Given the description of an element on the screen output the (x, y) to click on. 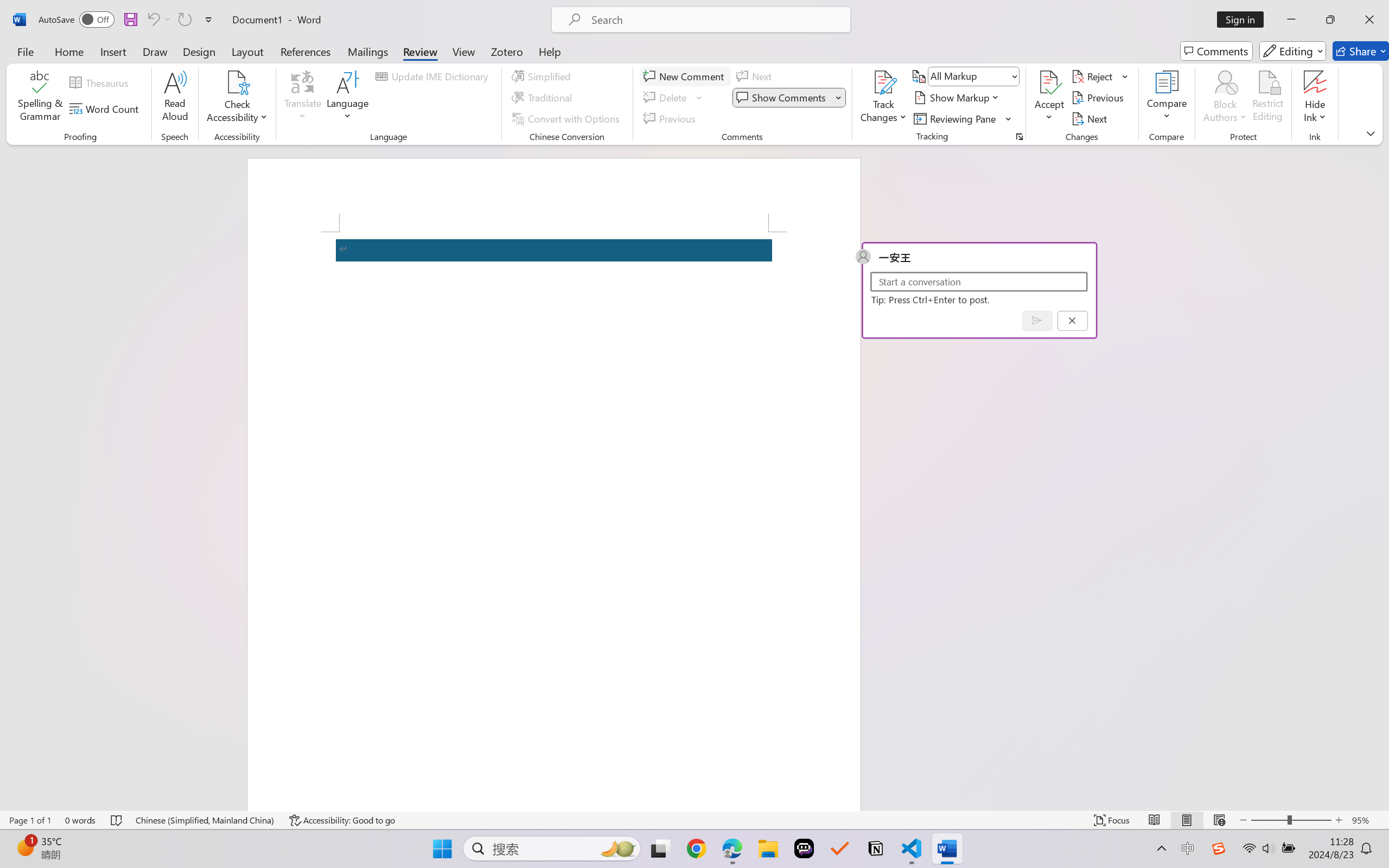
New Comment (685, 75)
Read Aloud (174, 97)
Update IME Dictionary... (433, 75)
Previous (1099, 97)
Sign in (1244, 19)
